Given the description of an element on the screen output the (x, y) to click on. 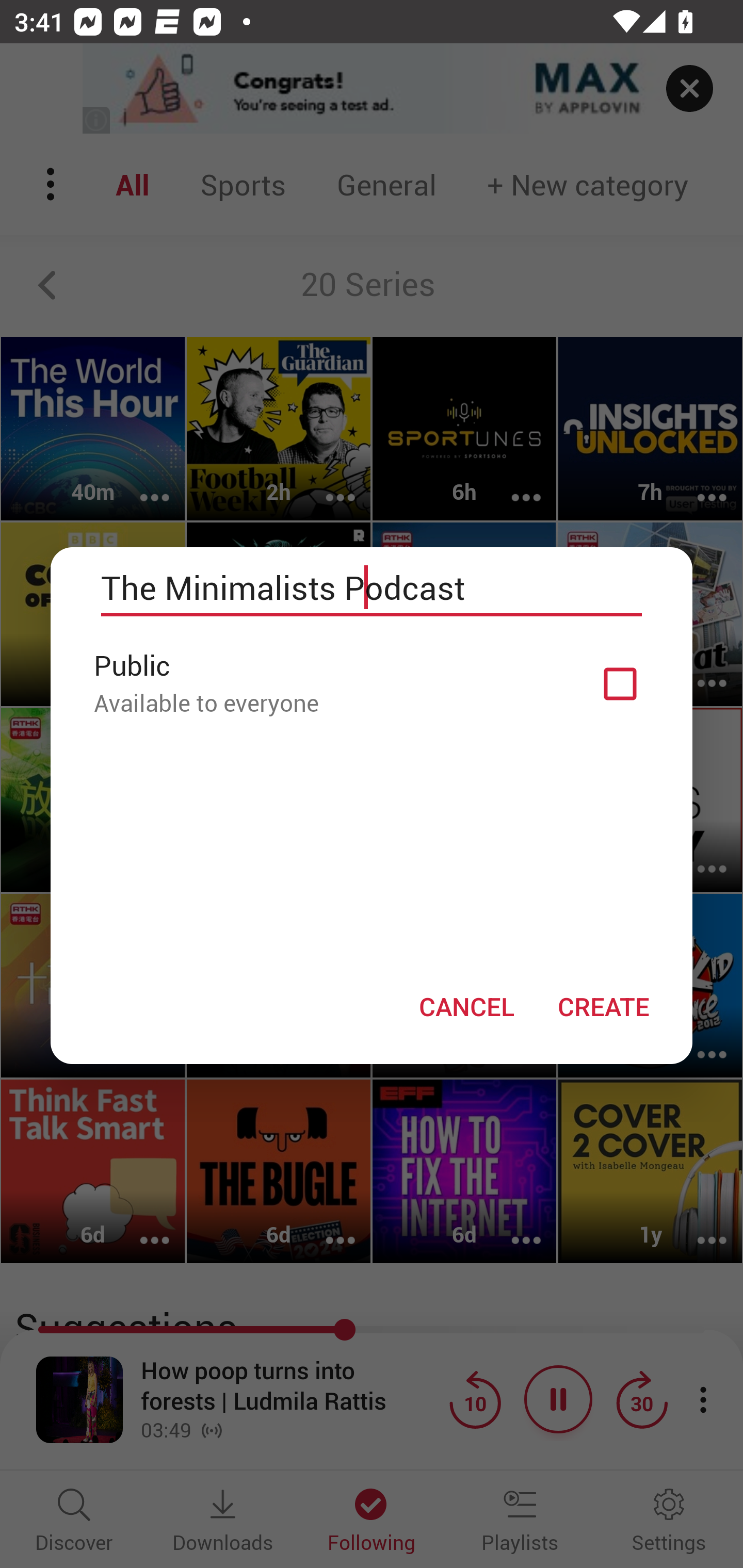
The Minimalists Podcast (371, 587)
Public Available to everyone (371, 683)
CANCEL (465, 1005)
CREATE (602, 1005)
